Given the description of an element on the screen output the (x, y) to click on. 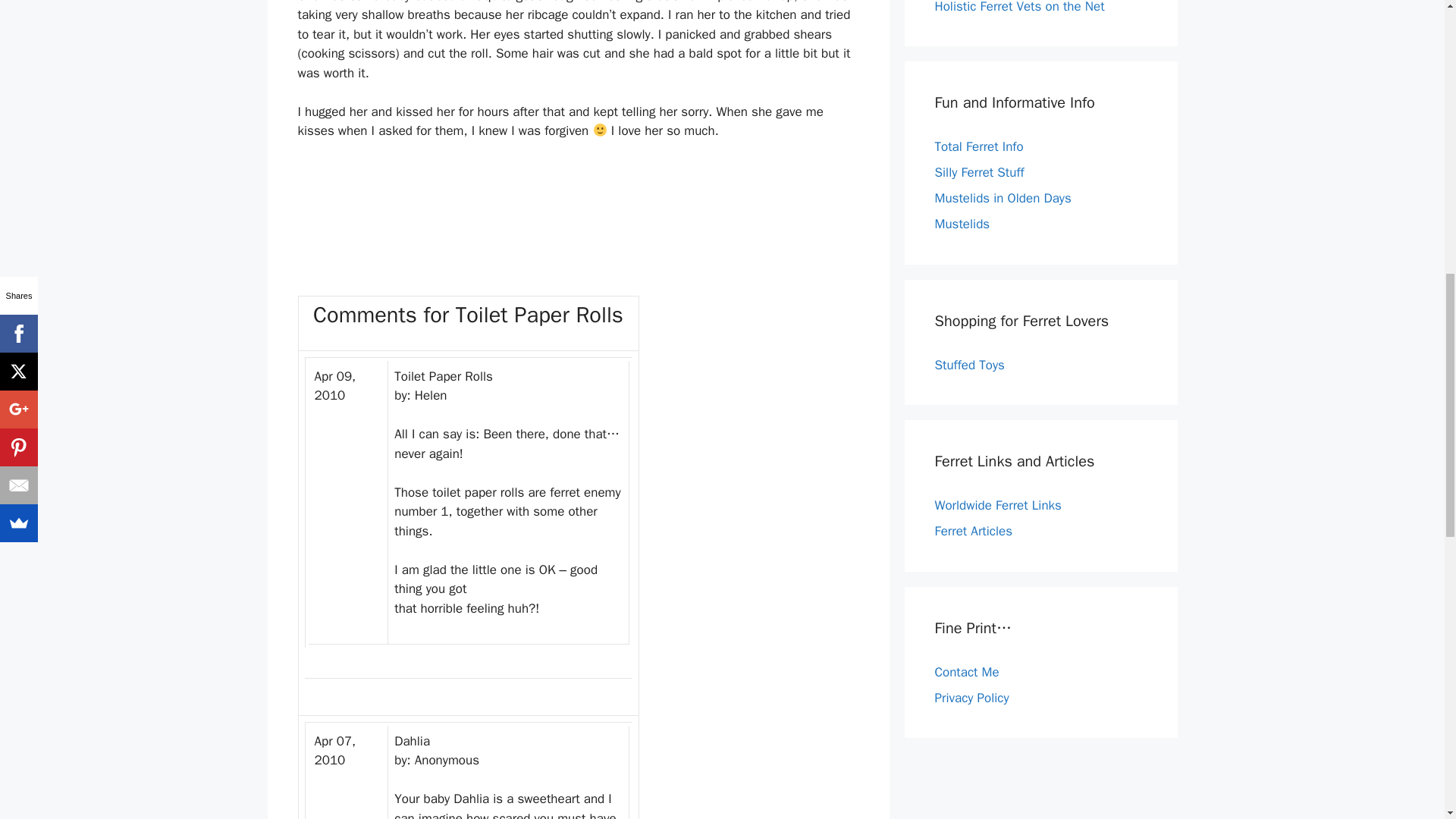
Mustelids in Olden Days (1002, 198)
Privacy Policy (971, 697)
Silly Ferret Stuff (978, 172)
Mustelids (962, 223)
Contact Me (966, 672)
Ferret Articles (972, 530)
Total Ferret Info (978, 146)
Worldwide Ferret Links (997, 505)
Holistic Ferret Vets on the Net (1018, 7)
Stuffed Toys (969, 364)
